Given the description of an element on the screen output the (x, y) to click on. 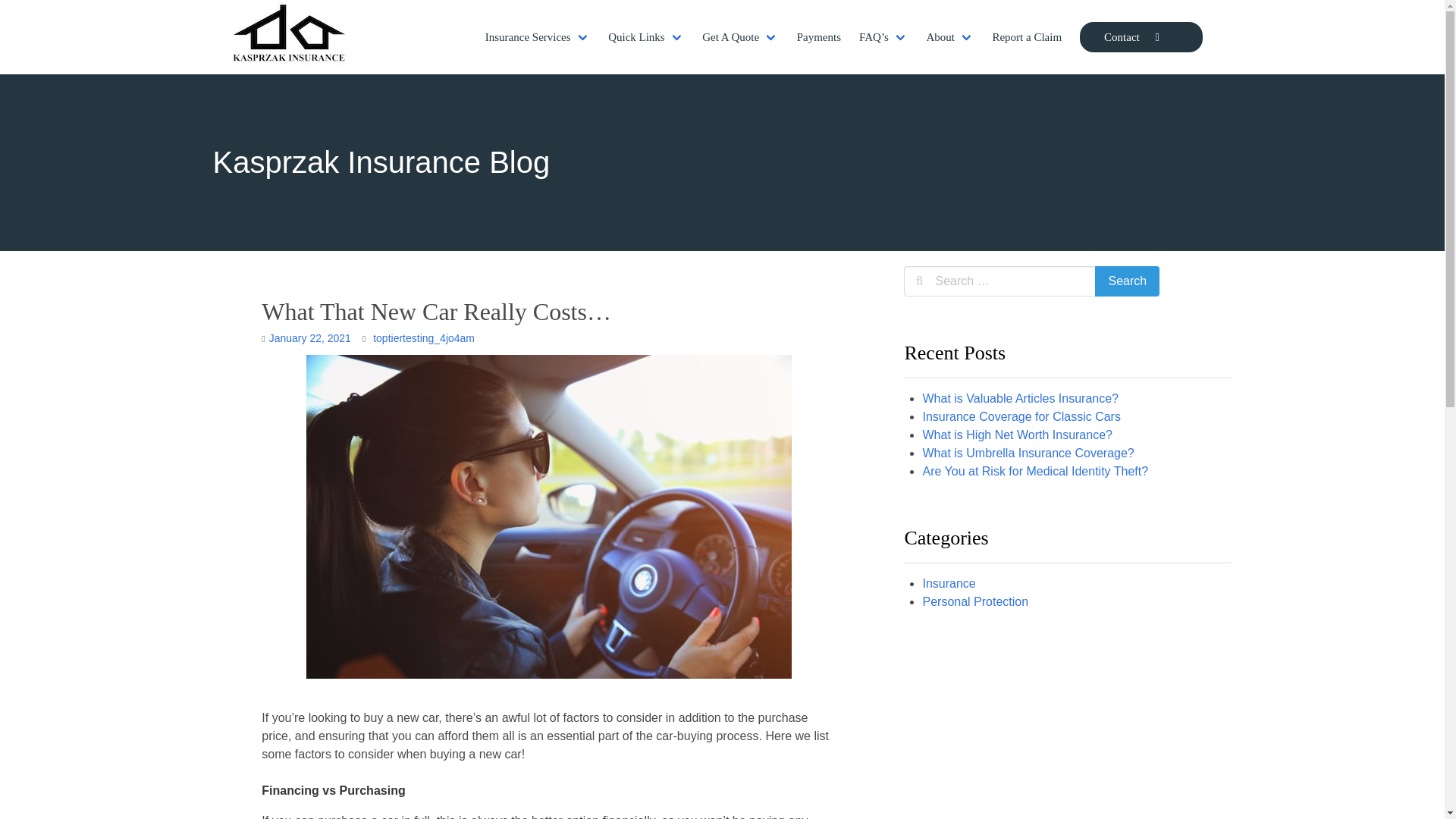
Insurance Services (537, 37)
Search (1126, 281)
Report a Claim (1026, 37)
Get A Quote (740, 37)
Quick Links (645, 37)
January 22, 2021 (309, 337)
Contact (1140, 37)
